Given the description of an element on the screen output the (x, y) to click on. 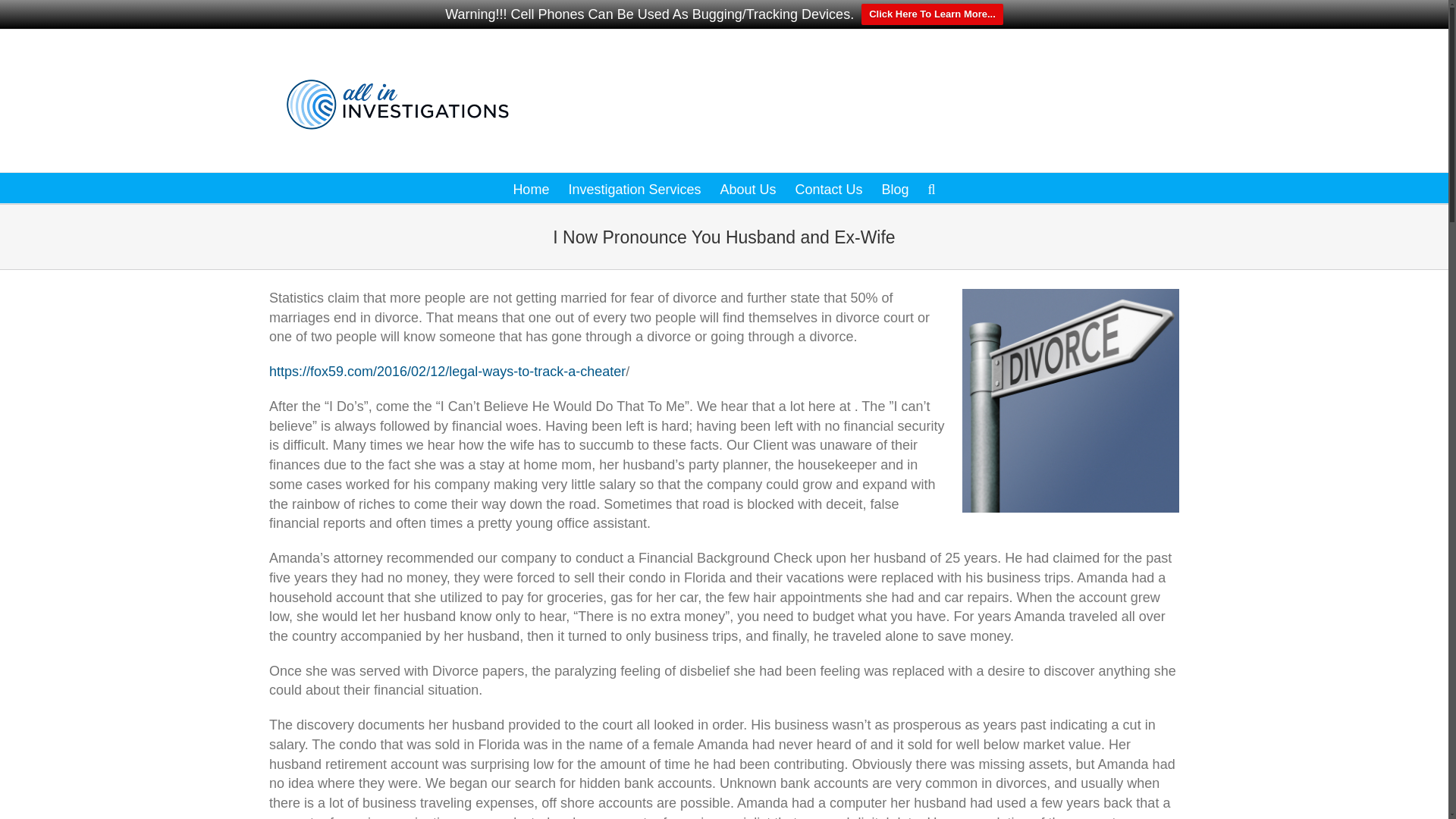
Investigation Services (633, 187)
Home (530, 187)
Click Here To Learn More... (932, 14)
